Given the description of an element on the screen output the (x, y) to click on. 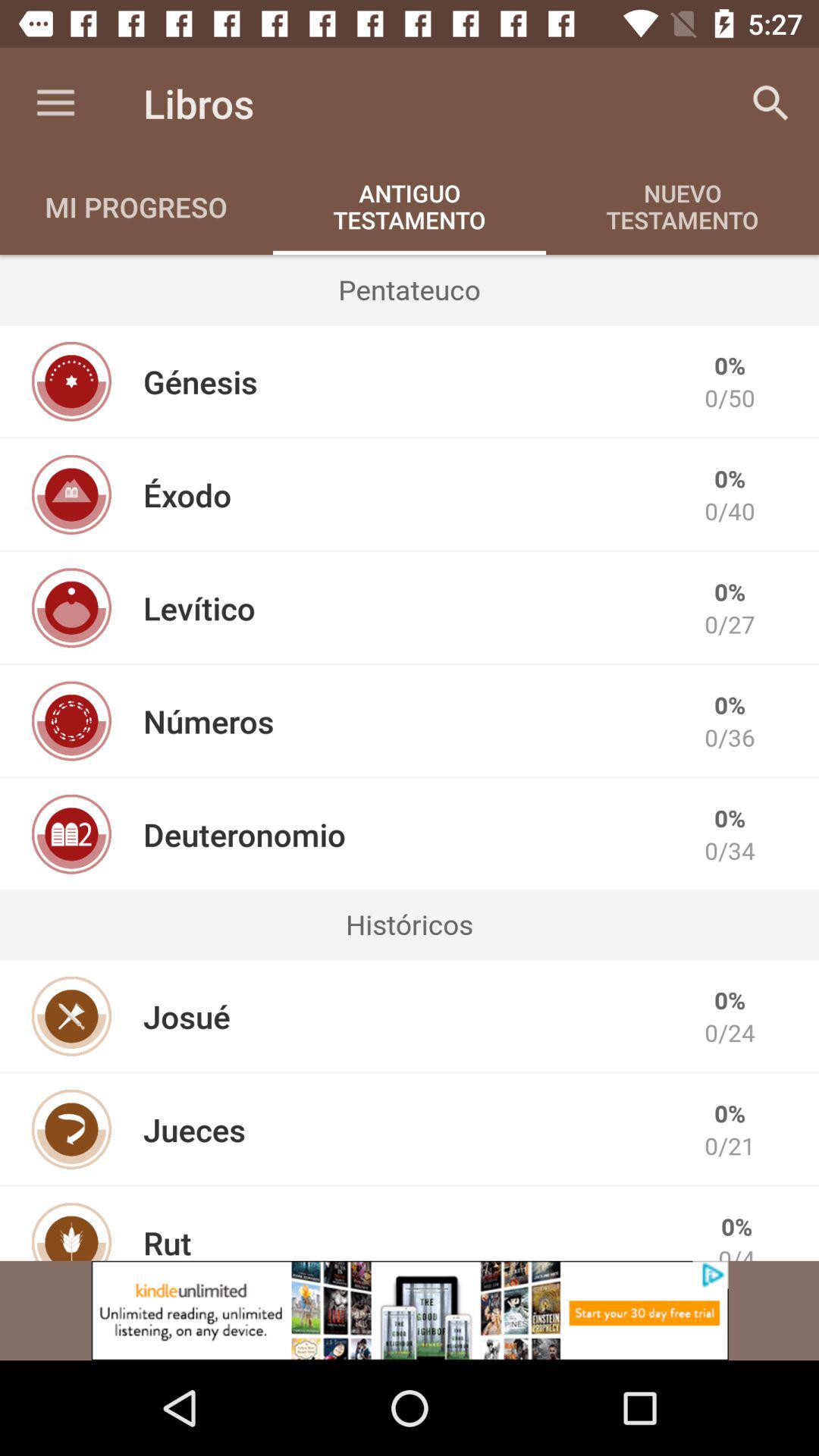
launch the item next to the 0/27 (199, 607)
